Given the description of an element on the screen output the (x, y) to click on. 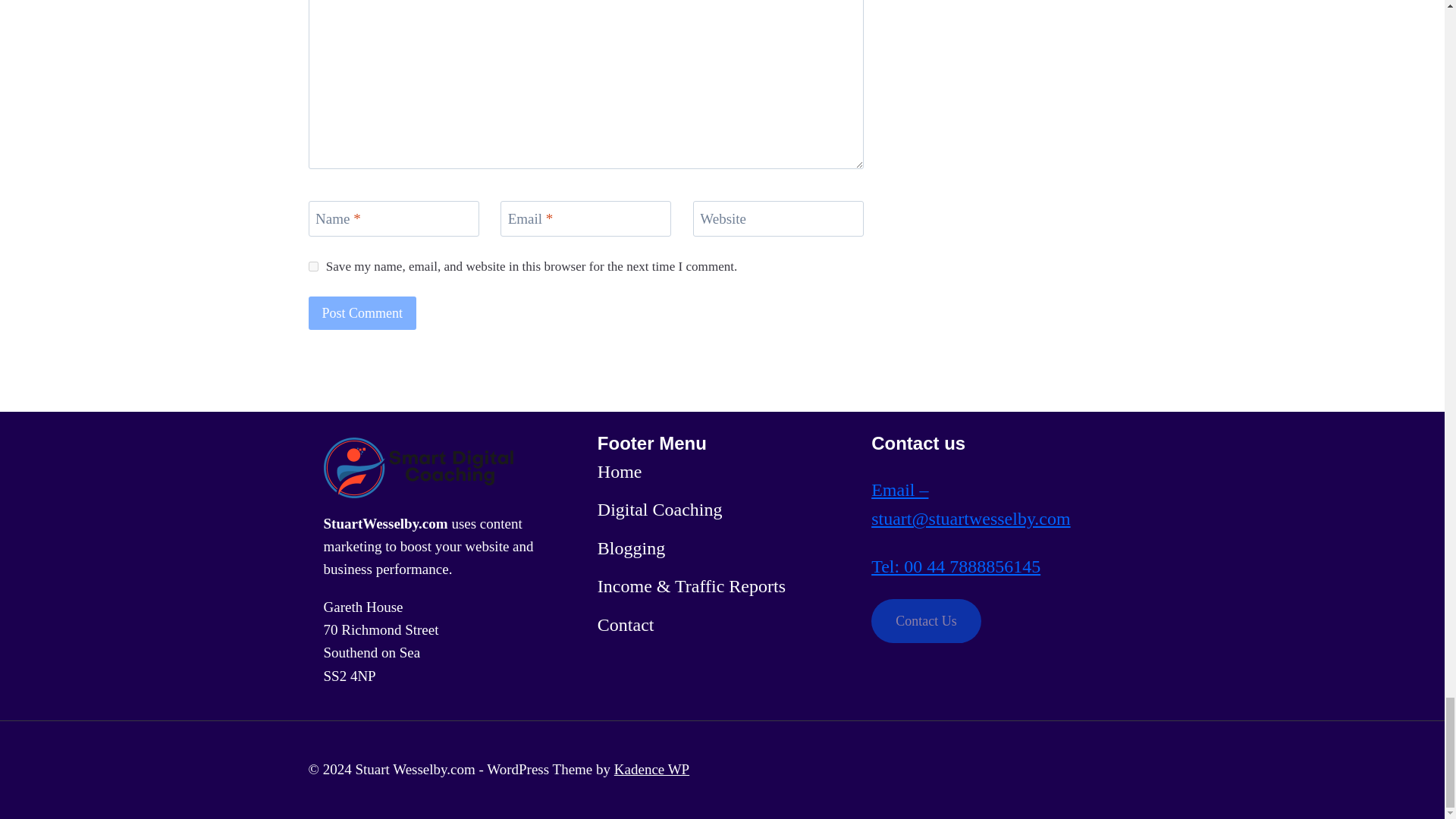
Post Comment (361, 312)
Post Comment (361, 312)
Contact (624, 624)
Home (619, 471)
yes (312, 266)
Digital Coaching (659, 509)
Blogging (630, 547)
